Given the description of an element on the screen output the (x, y) to click on. 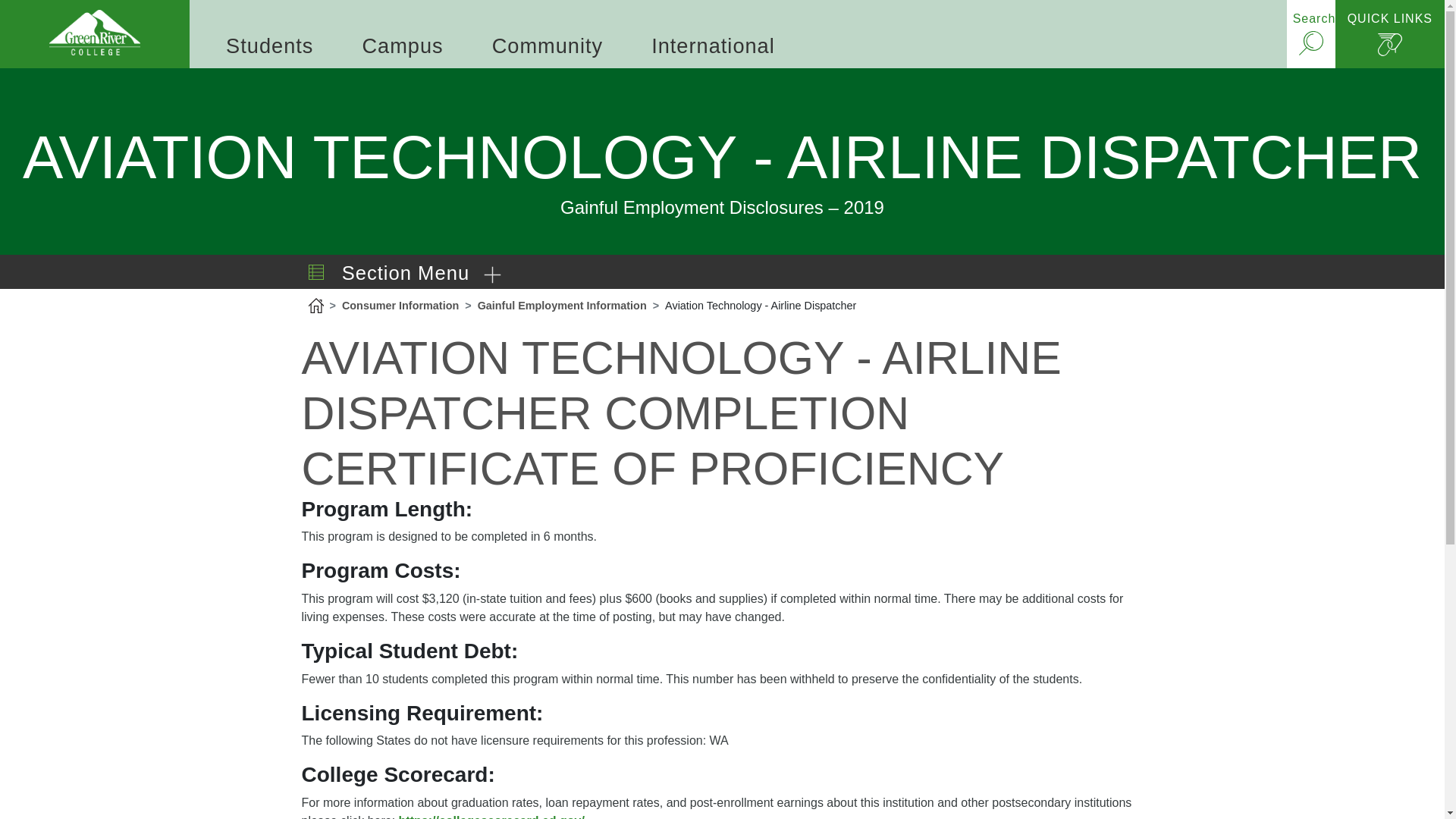
Students (269, 46)
College Score Card website (491, 816)
Green River College (94, 33)
